Given the description of an element on the screen output the (x, y) to click on. 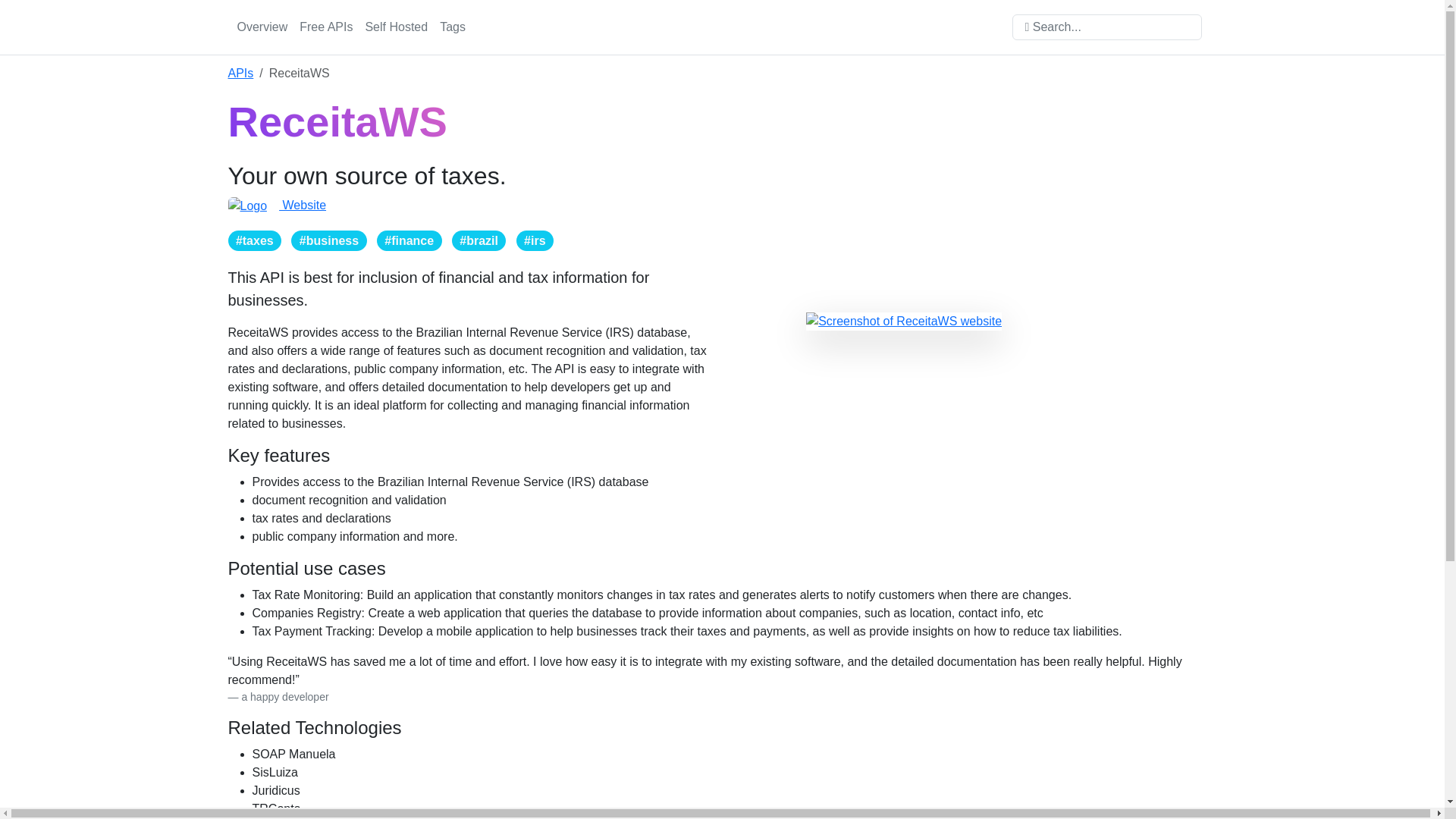
Free APIs (326, 27)
APIs (240, 72)
Tags (452, 27)
Overview (262, 27)
Website (276, 205)
Self Hosted (395, 27)
